Given the description of an element on the screen output the (x, y) to click on. 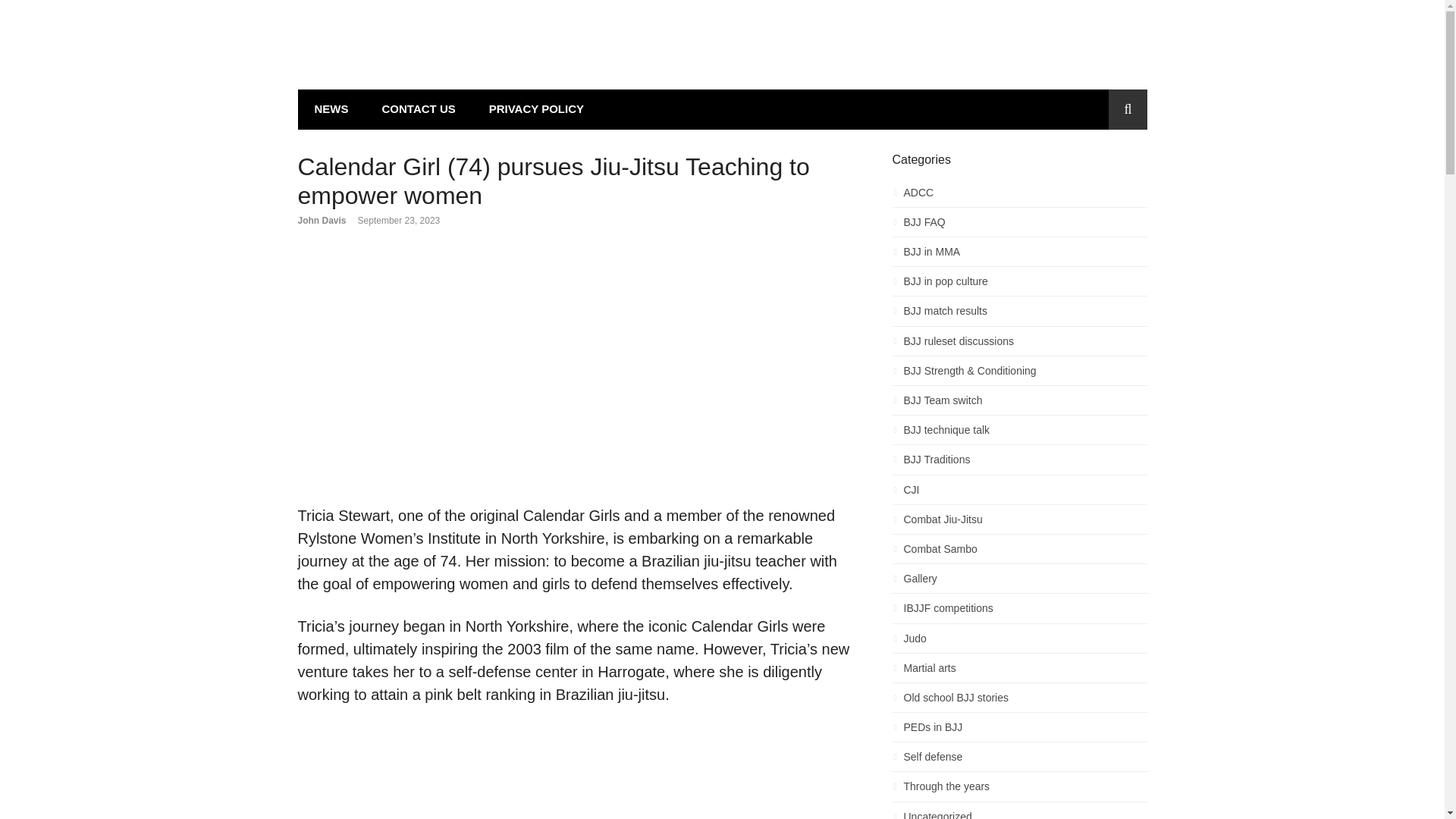
Combat Sambo (1019, 553)
John Davis (321, 220)
Old school BJJ stories (1019, 701)
PRIVACY POLICY (535, 109)
IBJJF competitions (1019, 612)
CONTACT US (418, 109)
BJJ ruleset discussions (1019, 345)
Judo (1019, 641)
CJI (1019, 494)
BJJ Team switch (1019, 404)
